Given the description of an element on the screen output the (x, y) to click on. 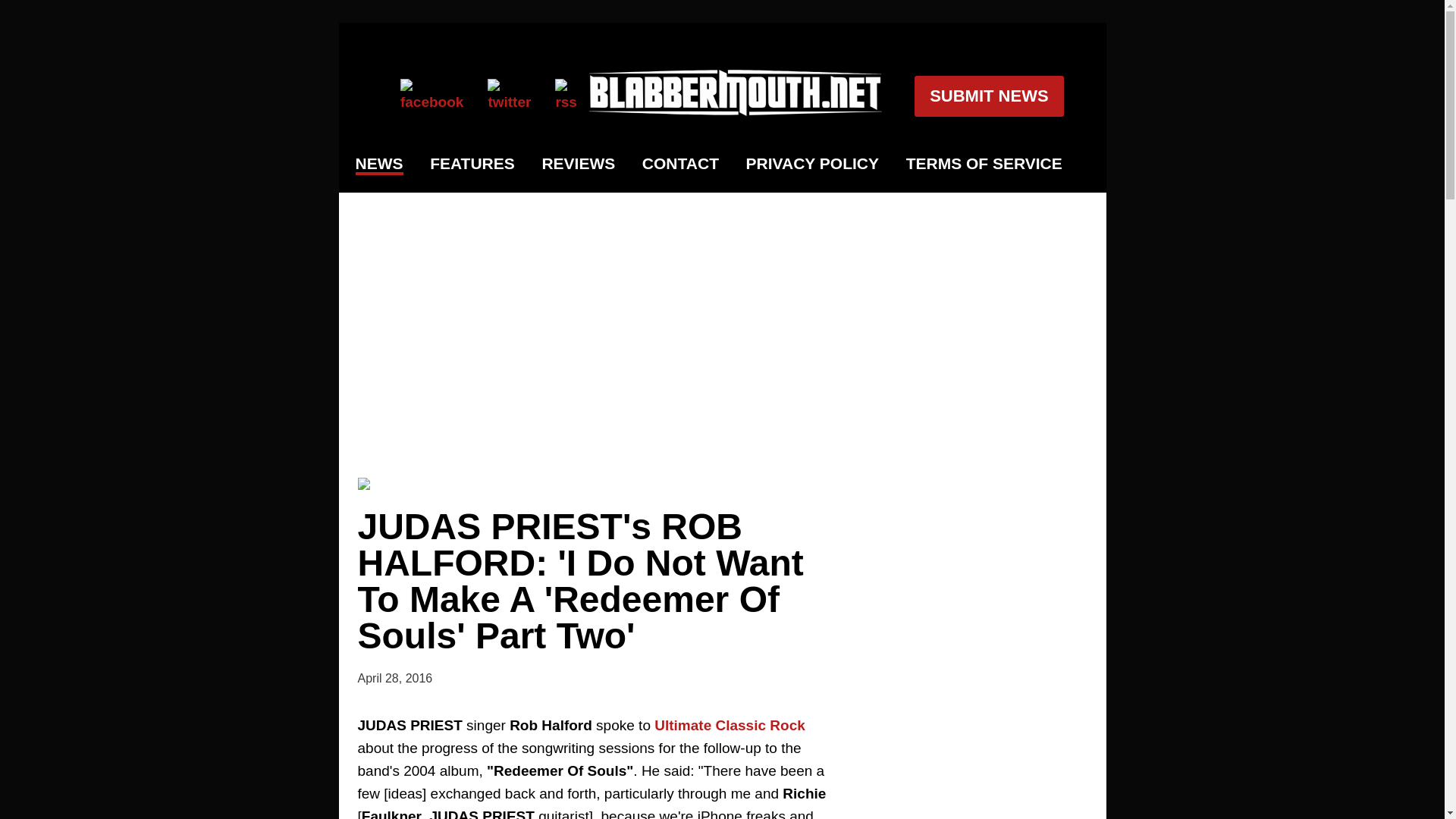
blabbermouth (735, 110)
PRIVACY POLICY (812, 163)
NEWS (379, 164)
SUBMIT NEWS (988, 96)
Ultimate Classic Rock (729, 725)
CONTACT (680, 163)
TERMS OF SERVICE (983, 163)
FEATURES (472, 163)
REVIEWS (577, 163)
